Given the description of an element on the screen output the (x, y) to click on. 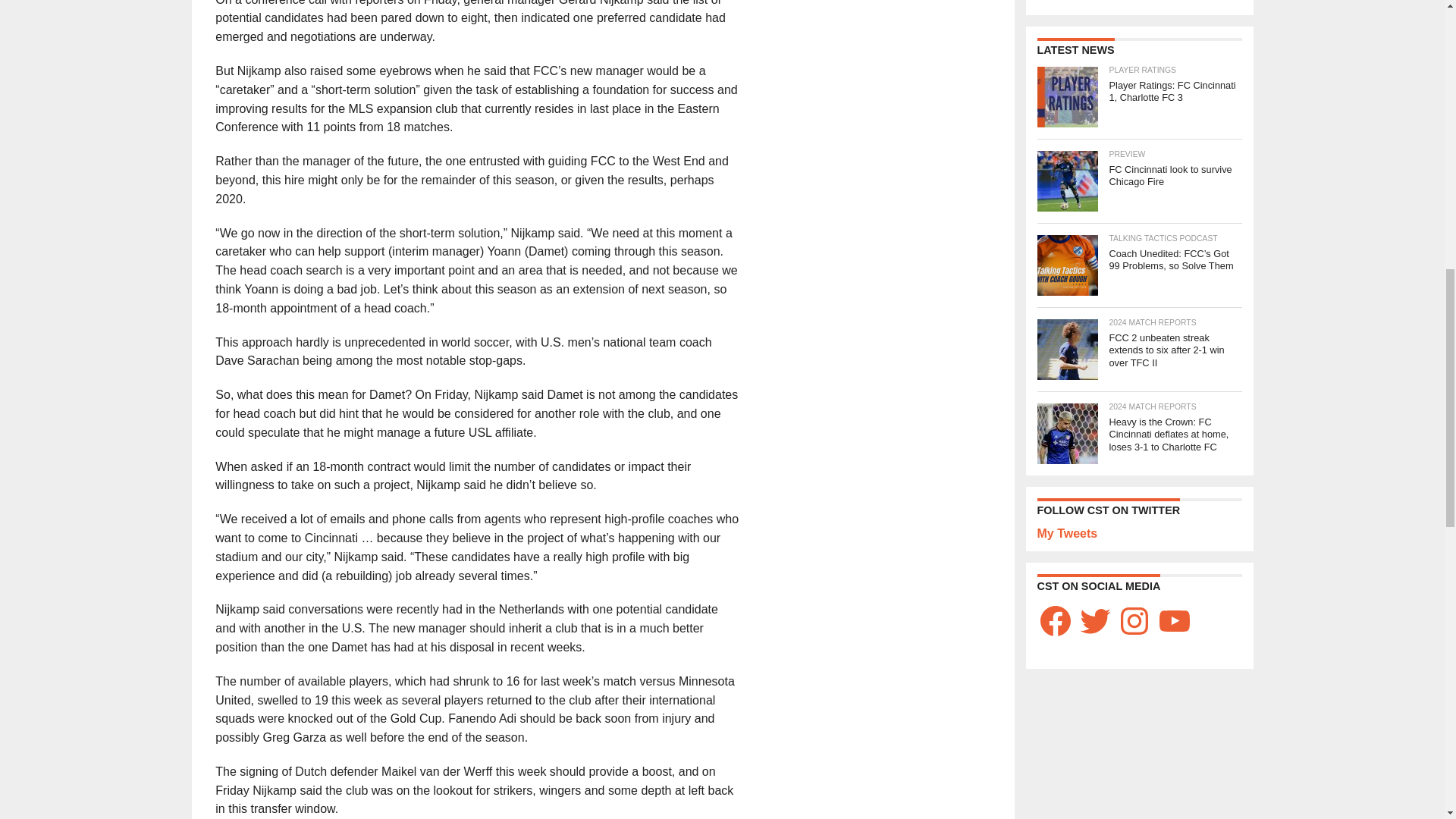
Advertisement (1138, 2)
